Given the description of an element on the screen output the (x, y) to click on. 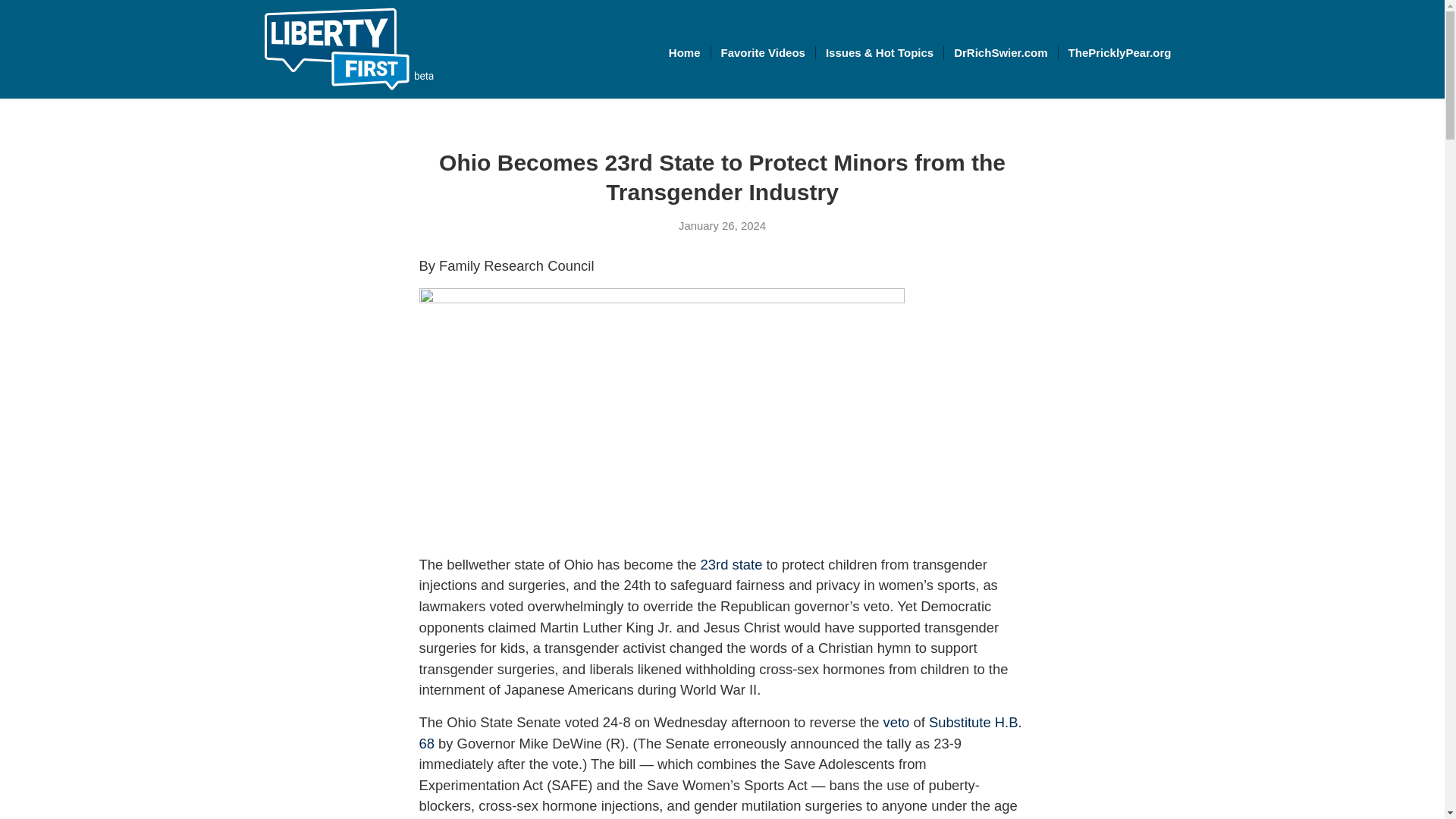
ThePricklyPear.org (1119, 52)
Favorite Videos (761, 52)
Substitute H.B. 68 (720, 732)
DrRichSwier.com (1000, 52)
23rd state (731, 564)
veto (896, 722)
